Given the description of an element on the screen output the (x, y) to click on. 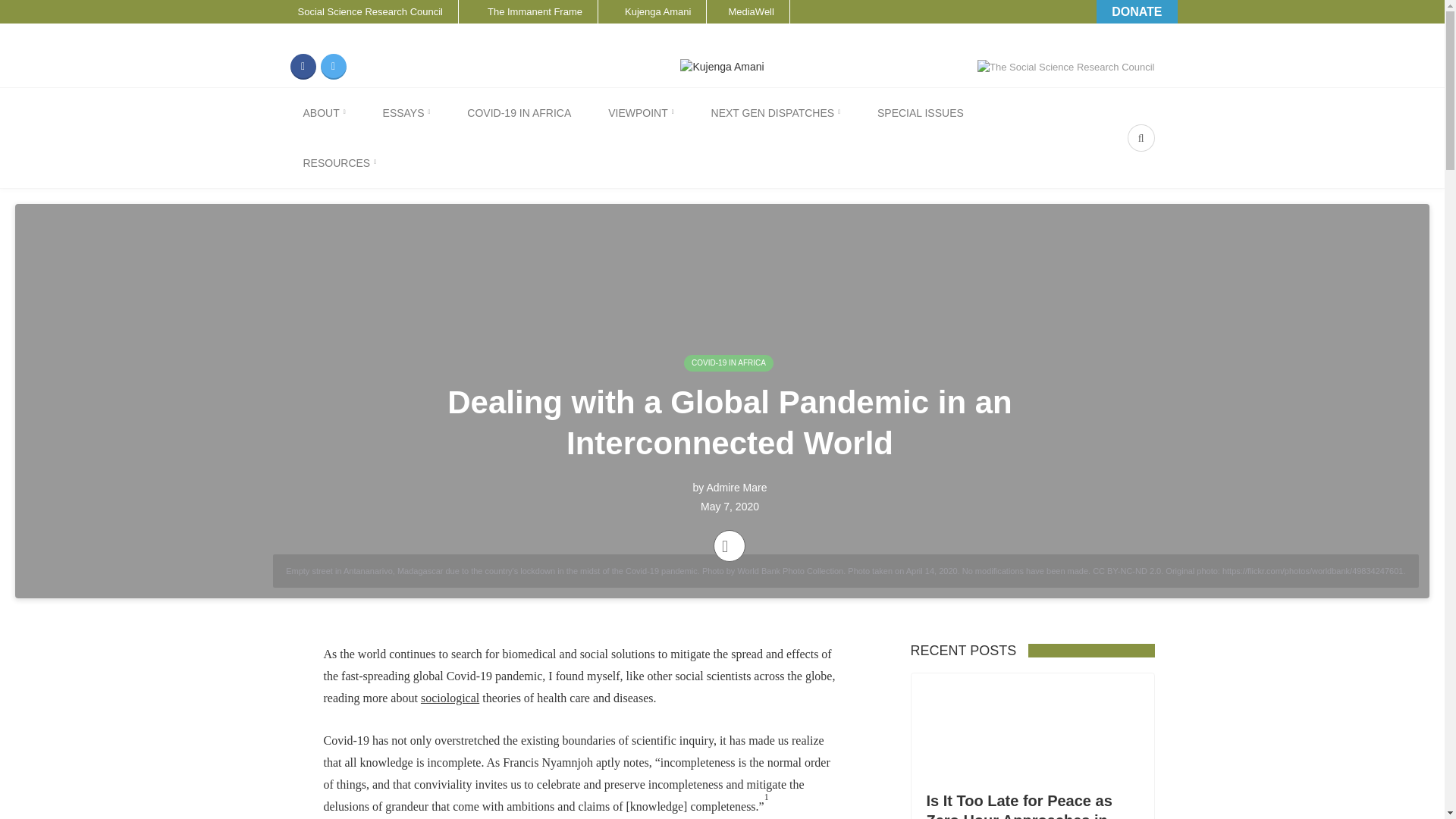
Social Science Research Council (361, 11)
MediaWell (747, 11)
The Social Science Research Council (1065, 66)
ESSAYS (406, 112)
DONATE (1136, 11)
Twitter (333, 66)
Kujenga Amani (652, 11)
Kujenga Amani (652, 11)
Social Science Research Council (361, 11)
The Social Science Research Council (1065, 67)
